Given the description of an element on the screen output the (x, y) to click on. 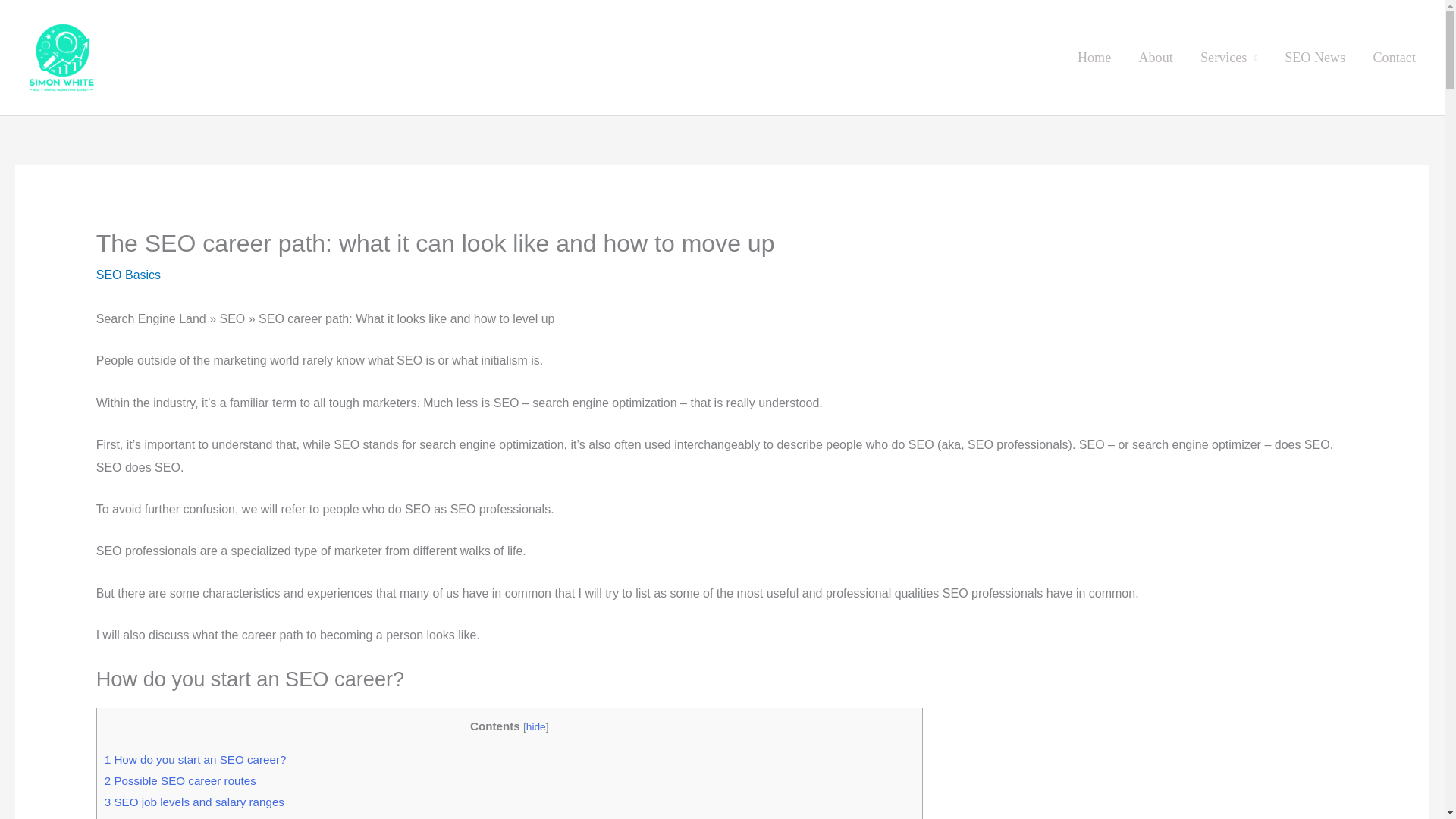
SEO Basics (128, 274)
Contact (1393, 57)
3.1 Entry-level (158, 818)
SEO News (1314, 57)
1 How do you start an SEO career? (195, 758)
Services (1228, 57)
2 Possible SEO career routes (180, 780)
About (1155, 57)
hide (535, 726)
3 SEO job levels and salary ranges (193, 801)
